Given the description of an element on the screen output the (x, y) to click on. 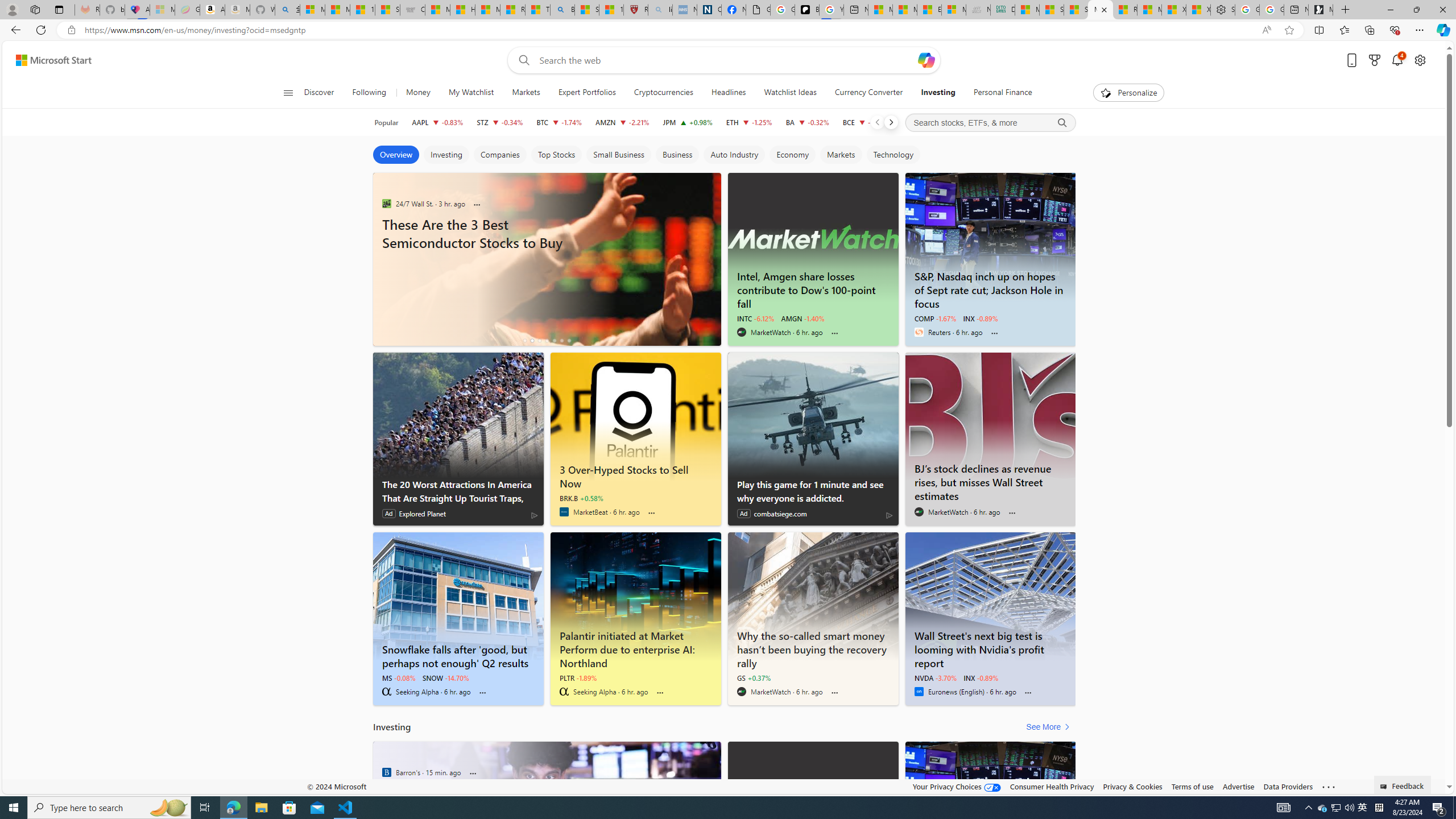
Markets (525, 92)
STZ CONSTELLATION BRANDS, INC. decrease 243.92 -0.82 -0.34% (499, 122)
AAPL APPLE INC. decrease 224.53 -1.87 -0.83% (437, 122)
AMGN -1.40% (802, 317)
Small Business (617, 154)
MarketBeat (564, 511)
3 Over-Hyped Stocks to Sell Now - MarketBeat (635, 474)
